Given the description of an element on the screen output the (x, y) to click on. 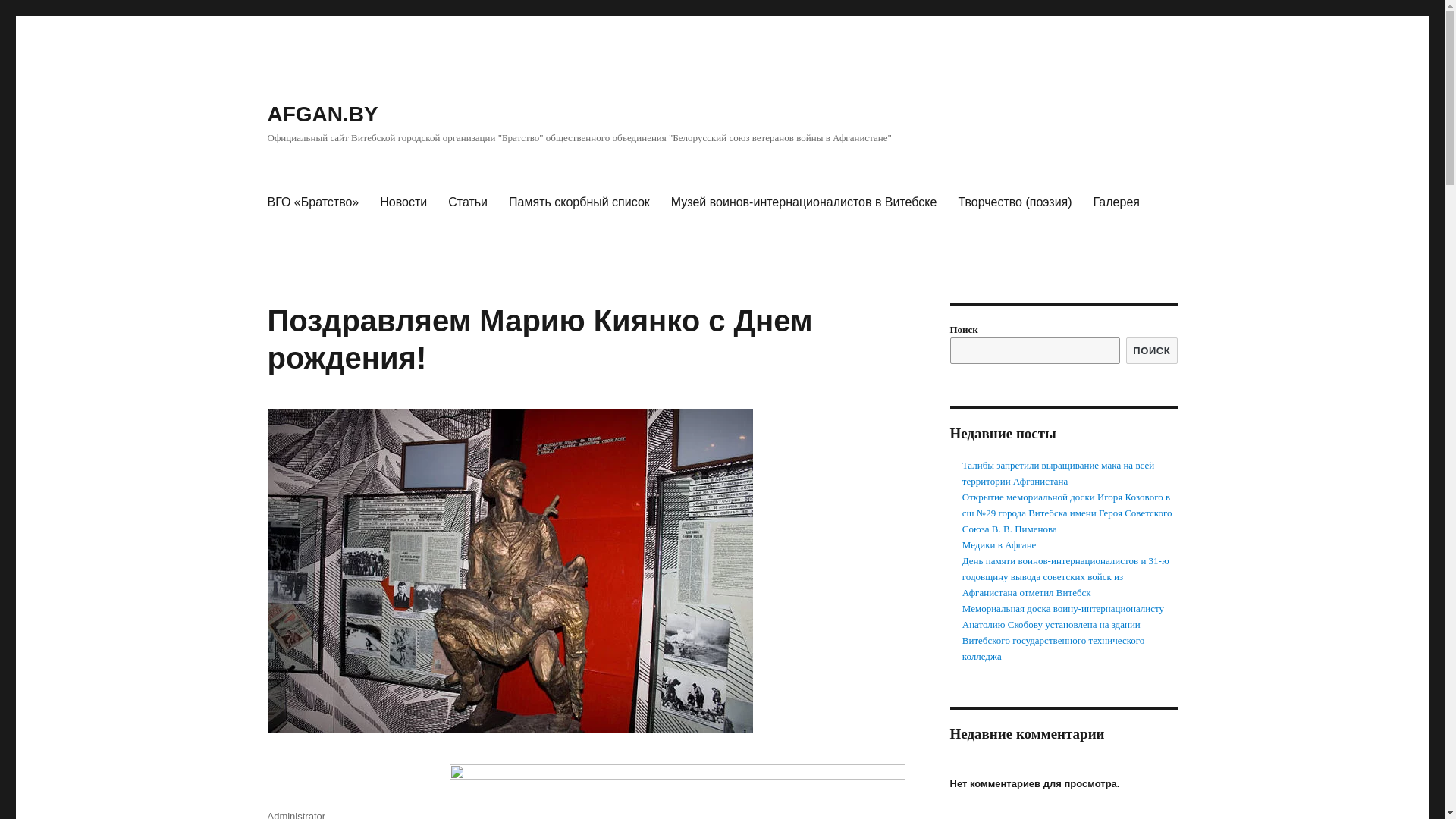
AFGAN.BY Element type: text (321, 113)
